Given the description of an element on the screen output the (x, y) to click on. 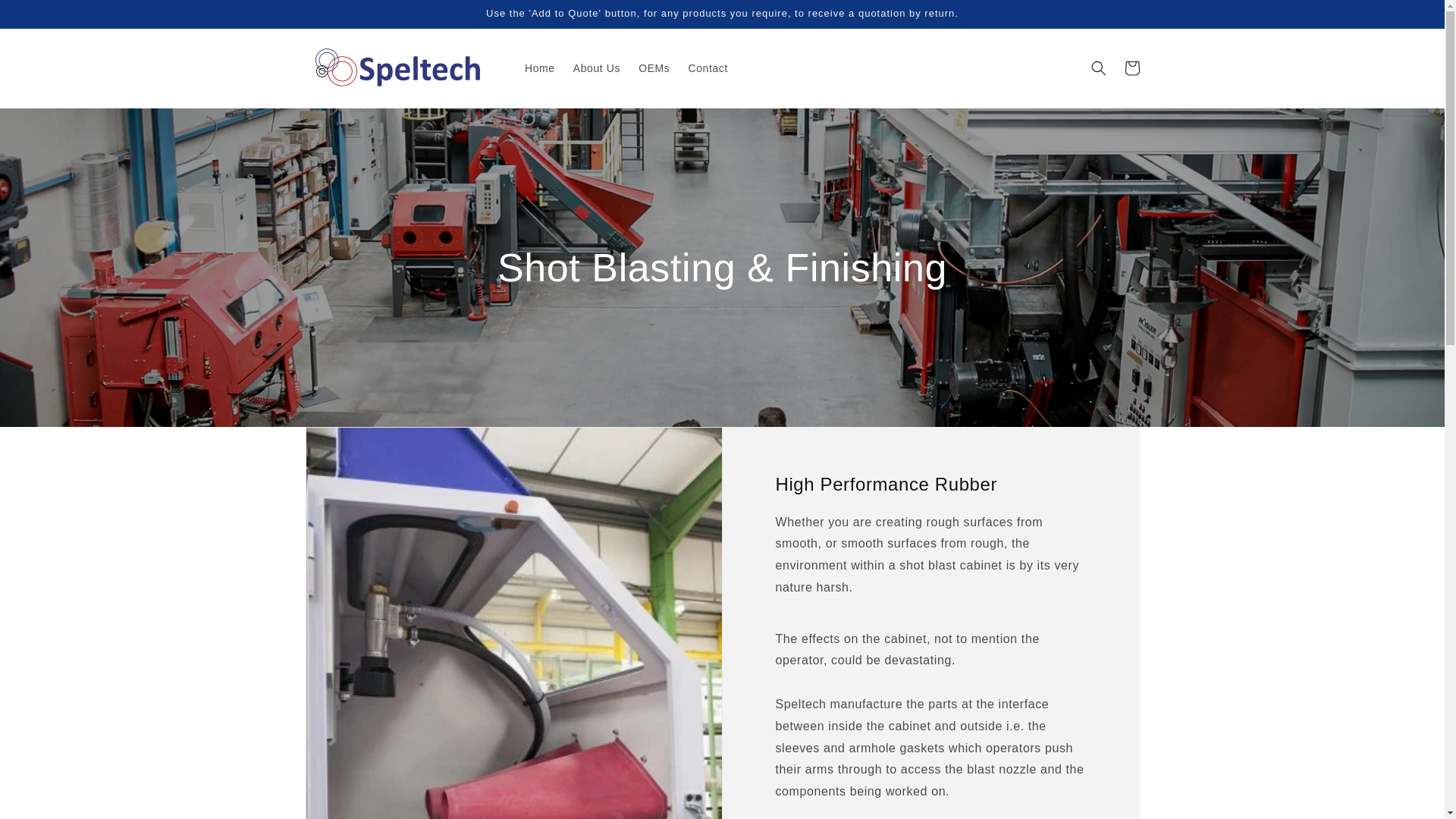
Home (539, 68)
OEMs (653, 68)
Contact (707, 68)
About Us (596, 68)
